Given the description of an element on the screen output the (x, y) to click on. 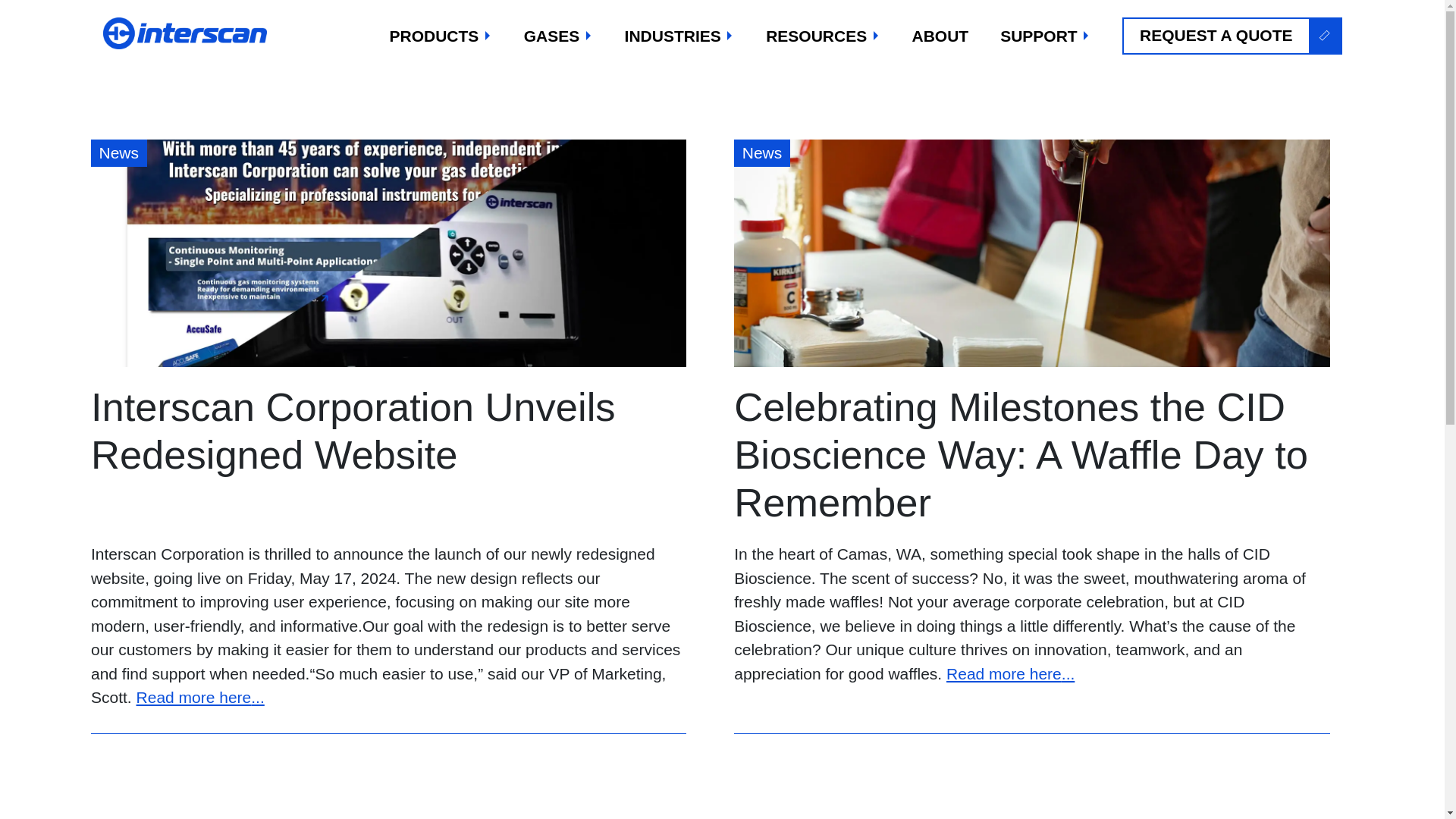
INDUSTRIES (678, 35)
Products (439, 35)
GASES (557, 35)
Interscan Corporation (186, 33)
PRODUCTS (439, 35)
Gases (557, 35)
